Given the description of an element on the screen output the (x, y) to click on. 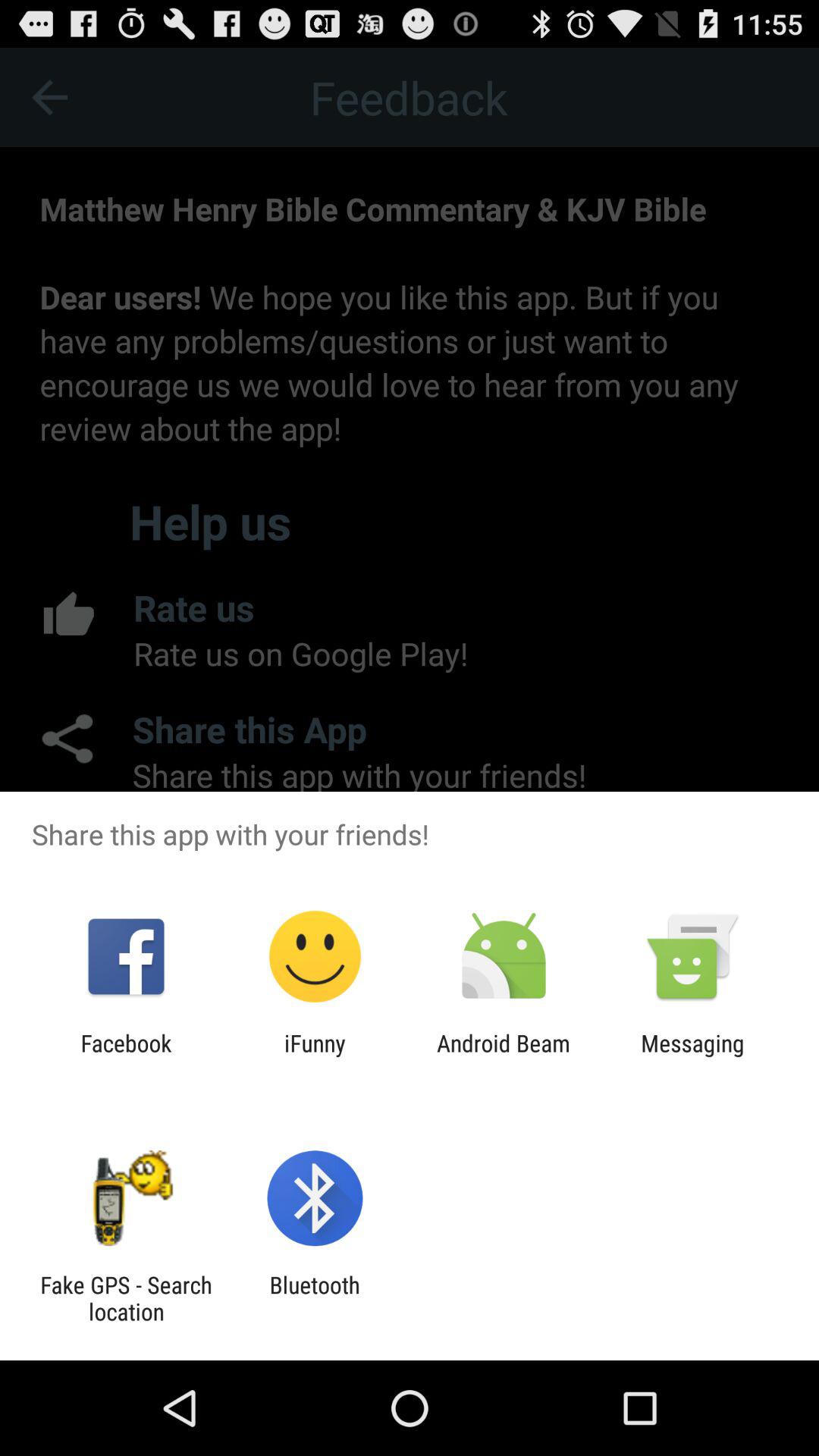
tap fake gps search item (125, 1298)
